Given the description of an element on the screen output the (x, y) to click on. 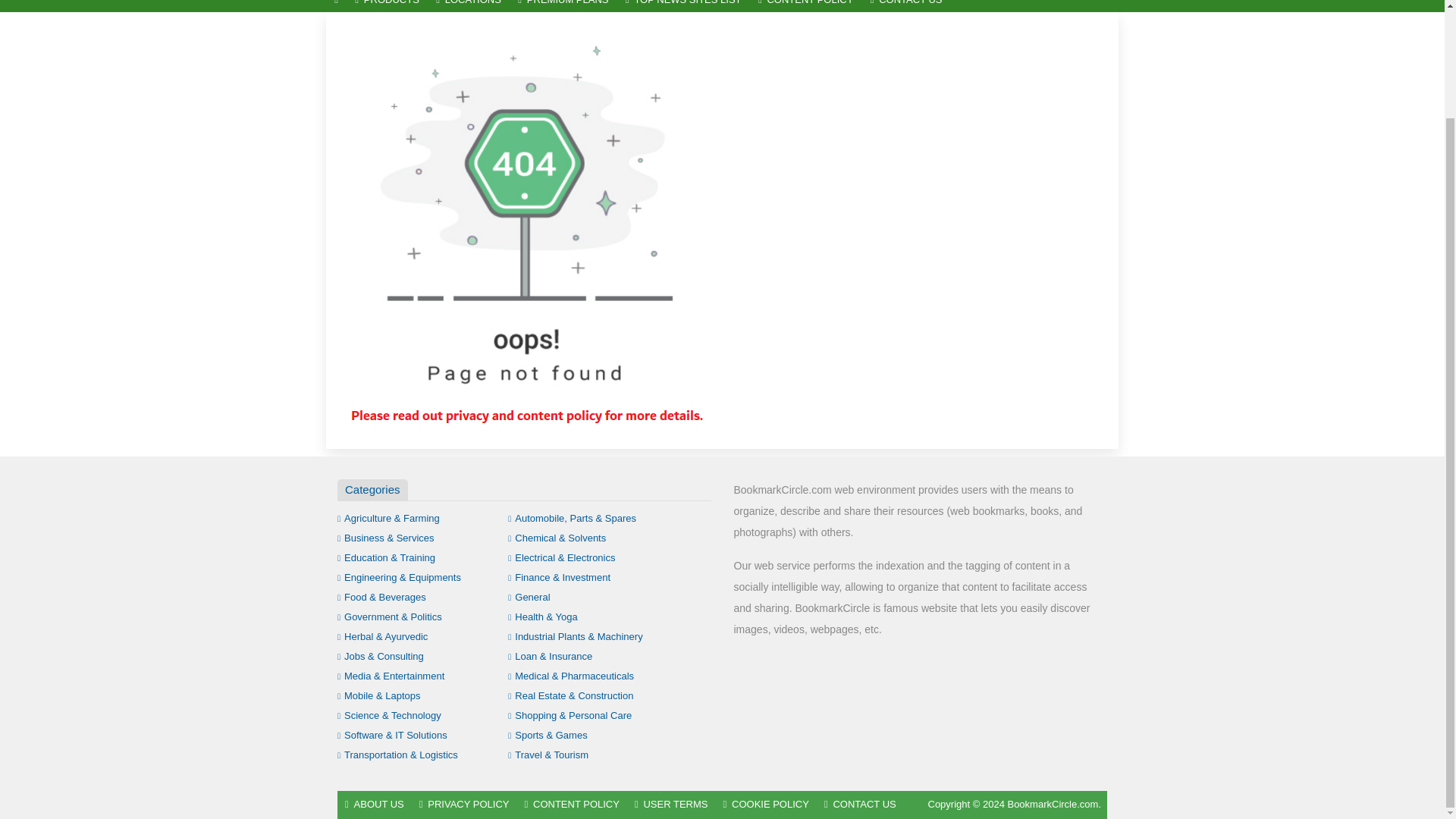
HOME (336, 6)
PREMIUM PLANS (563, 6)
CONTACT US (905, 6)
General (529, 596)
CONTENT POLICY (805, 6)
LOCATIONS (468, 6)
PRODUCTS (387, 6)
TOP NEWS SITES LIST (683, 6)
